Given the description of an element on the screen output the (x, y) to click on. 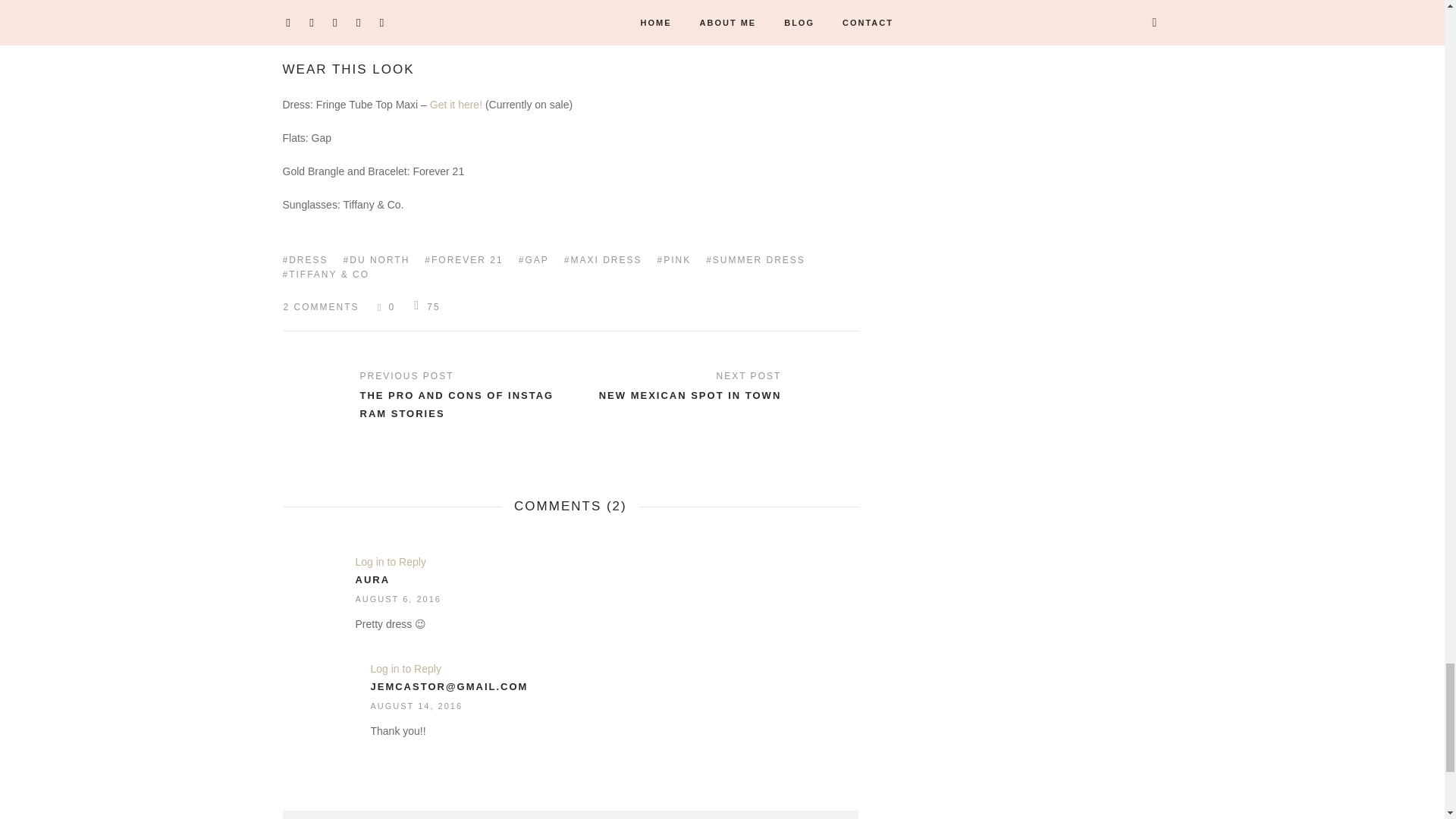
MAXI DRESS (603, 259)
August 6, 2016 (398, 598)
Log in to Reply (390, 562)
2 COMMENTS (320, 306)
PINK (673, 259)
SUMMER DRESS (755, 259)
Get it here! (455, 104)
0 (385, 306)
Comment on Splash of Pink Meets Fringe (320, 306)
DU NORTH (376, 259)
DRESS (304, 259)
Log in to Reply (405, 668)
GAP (533, 259)
FOREVER 21 (463, 259)
August 14, 2016 (416, 706)
